Given the description of an element on the screen output the (x, y) to click on. 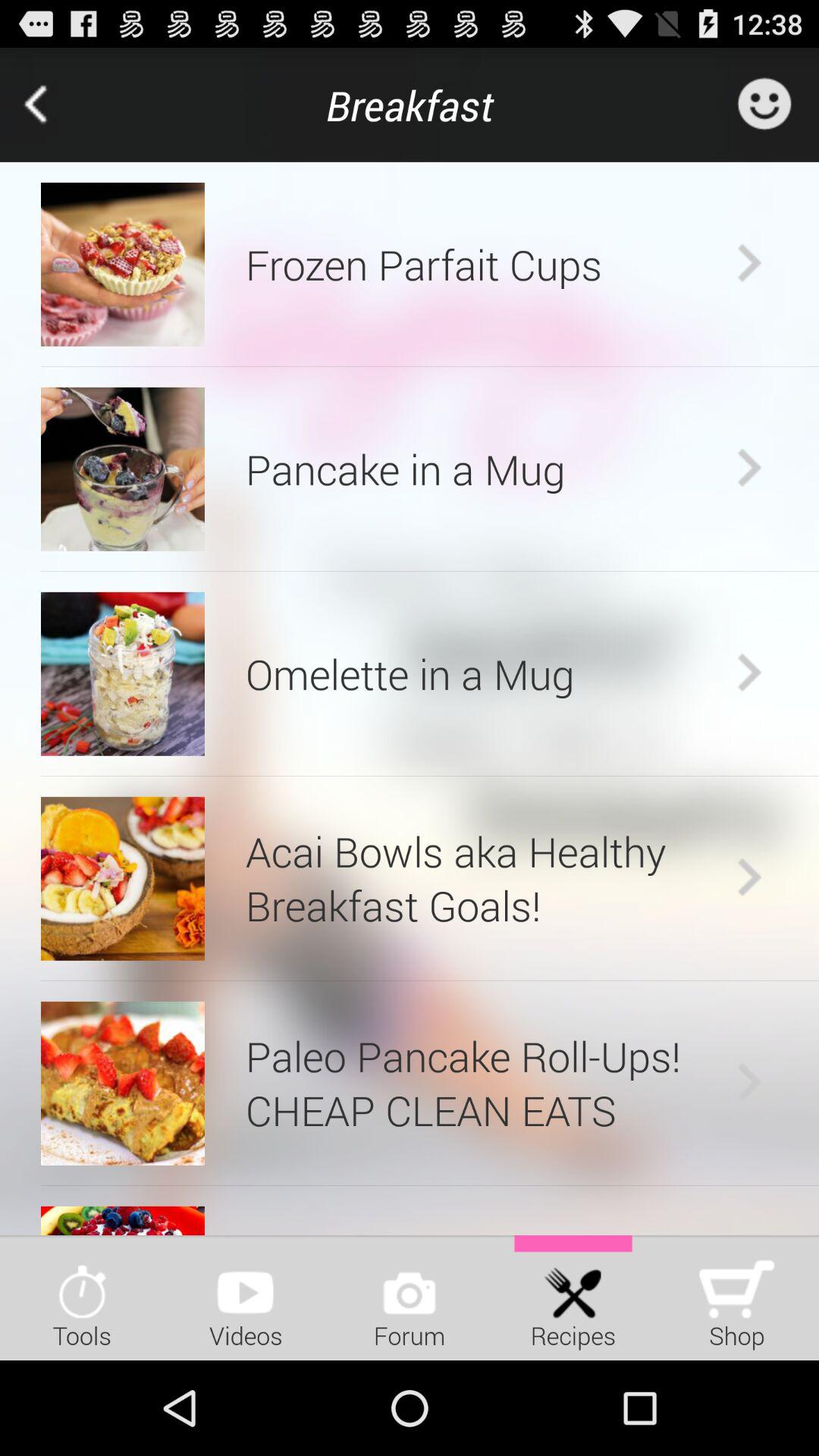
press icon to the right of the paleo pancake roll item (749, 1082)
